Given the description of an element on the screen output the (x, y) to click on. 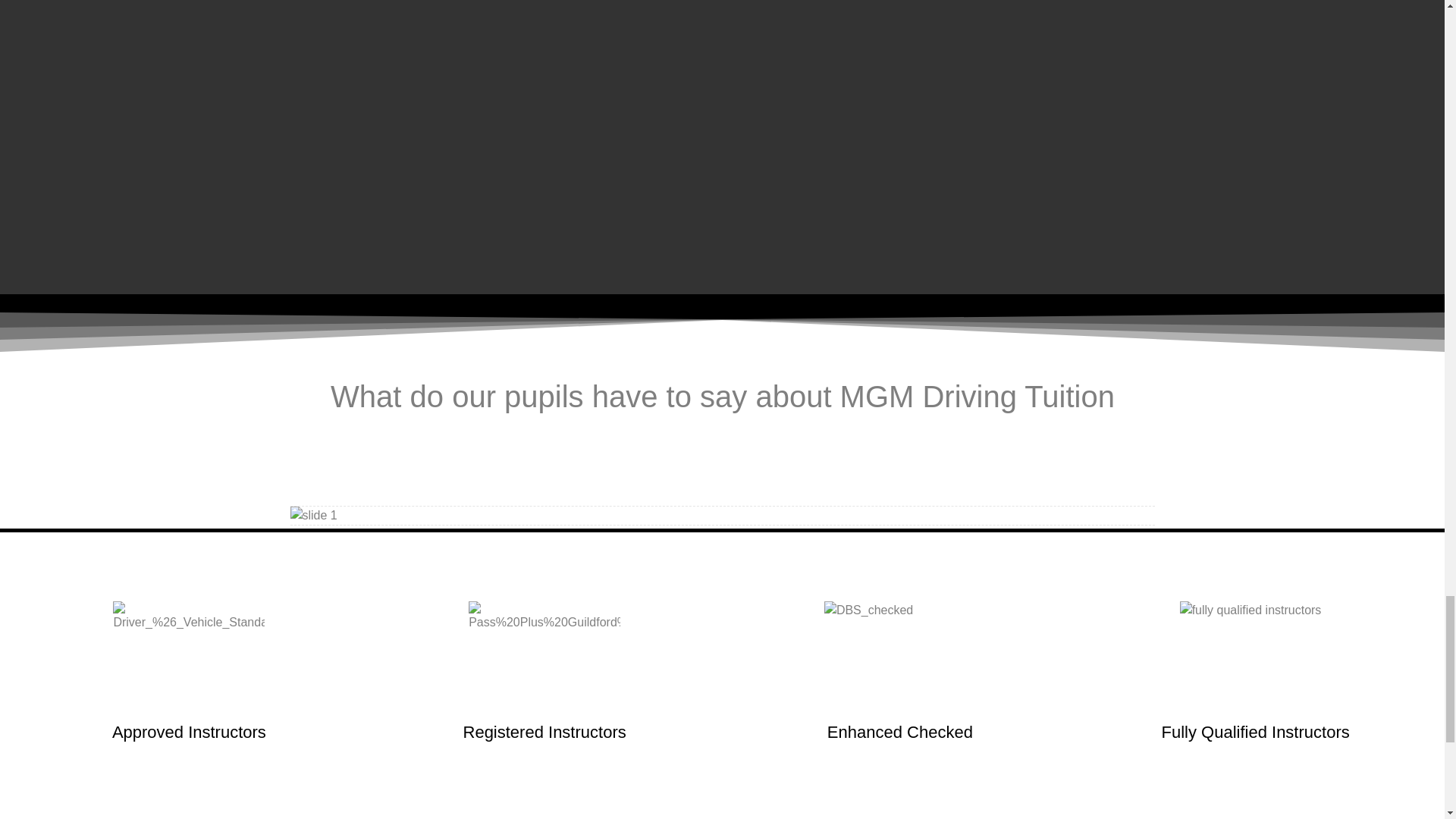
Next (1089, 515)
Previous (354, 515)
